Given the description of an element on the screen output the (x, y) to click on. 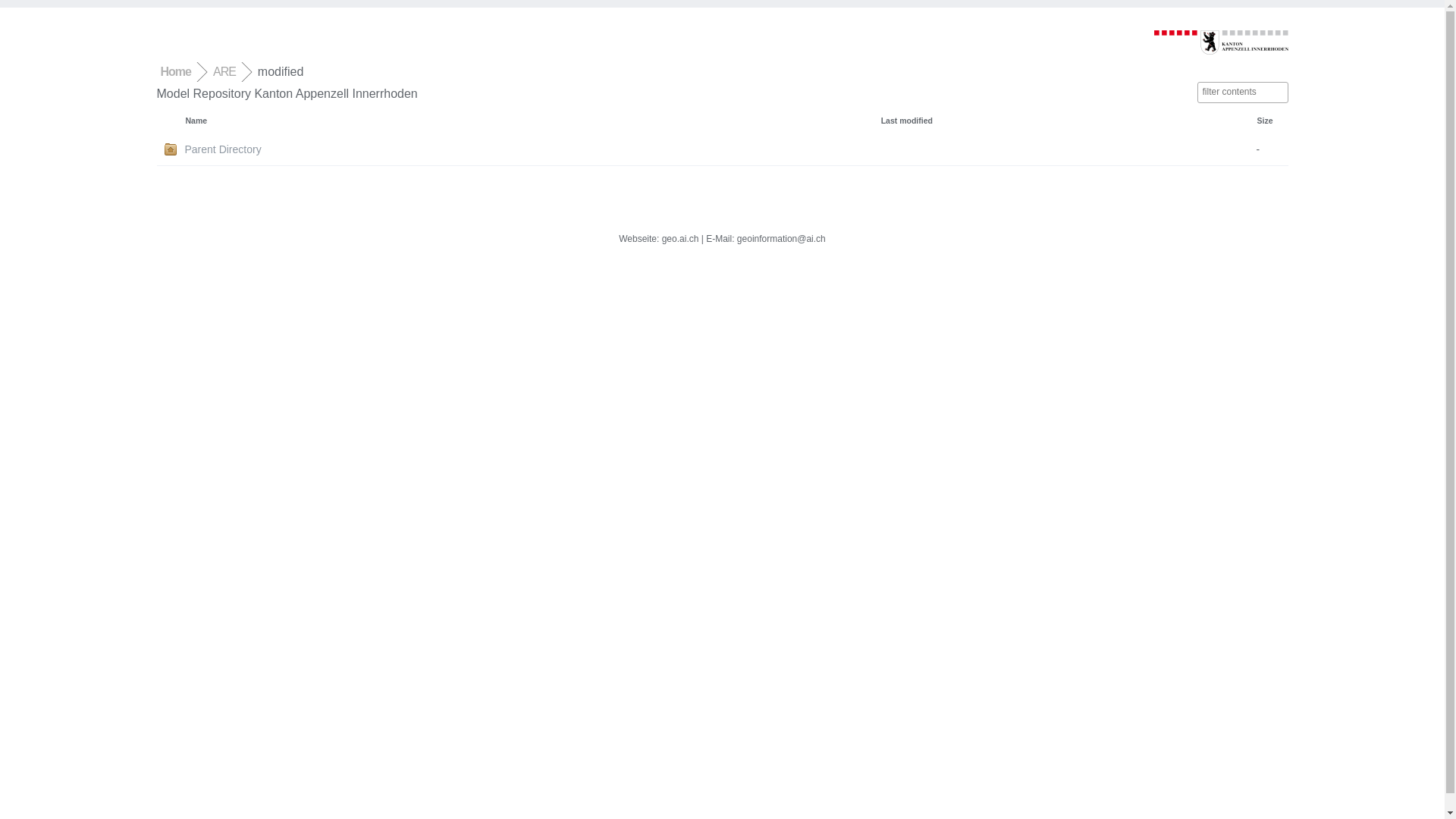
geoinformation@ai.ch Element type: text (781, 238)
ARE Element type: text (224, 71)
geo.ai.ch Element type: text (680, 238)
Name Element type: text (196, 120)
Last modified Element type: text (906, 120)
Parent Directory Element type: text (532, 149)
Home Element type: text (175, 71)
Size Element type: text (1264, 120)
